Given the description of an element on the screen output the (x, y) to click on. 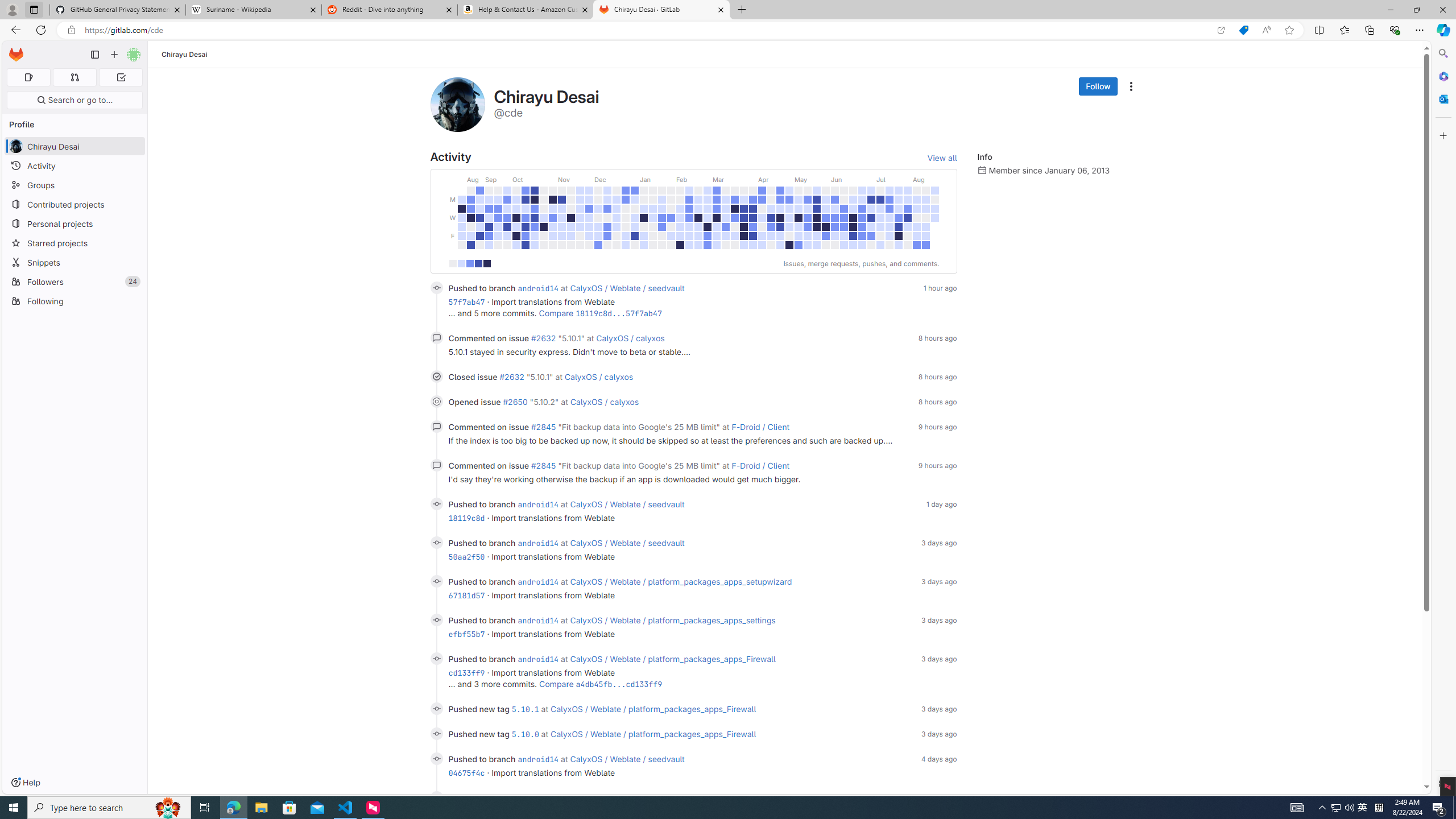
Starred projects (74, 242)
